Given the description of an element on the screen output the (x, y) to click on. 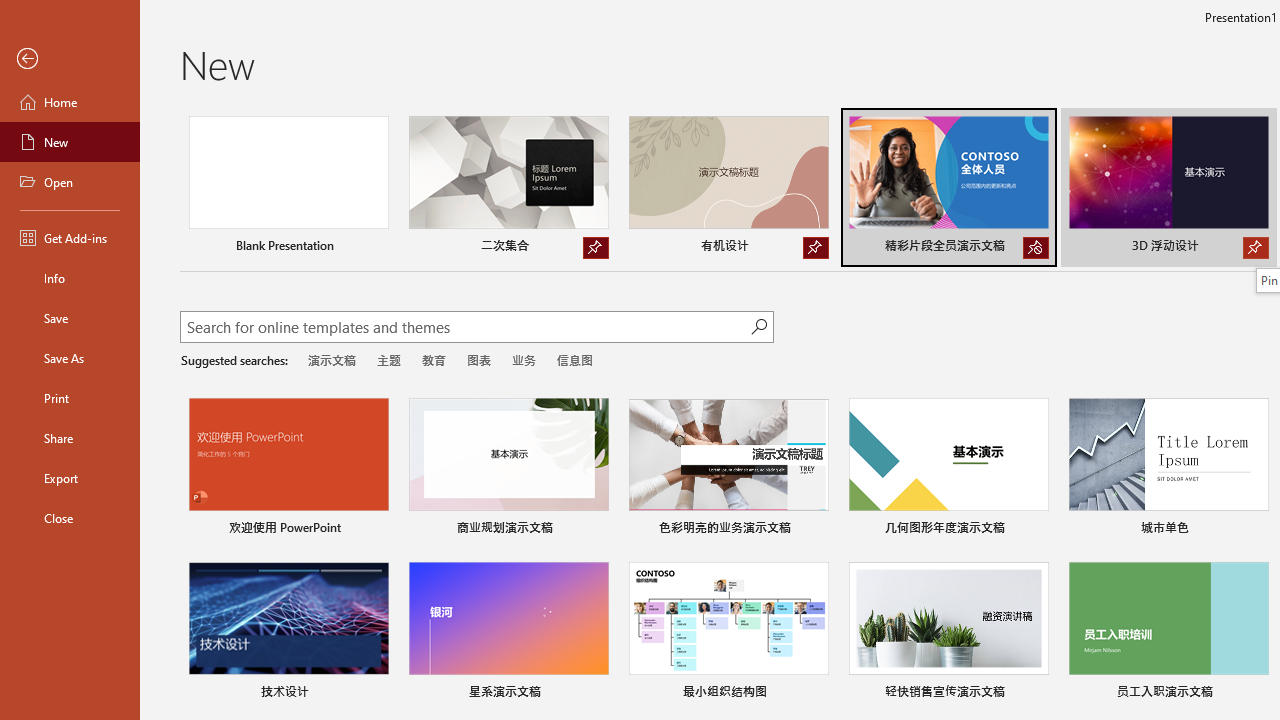
Search for online templates and themes (465, 329)
Save As (69, 357)
Info (69, 277)
Get Add-ins (69, 237)
Start searching (758, 326)
